Given the description of an element on the screen output the (x, y) to click on. 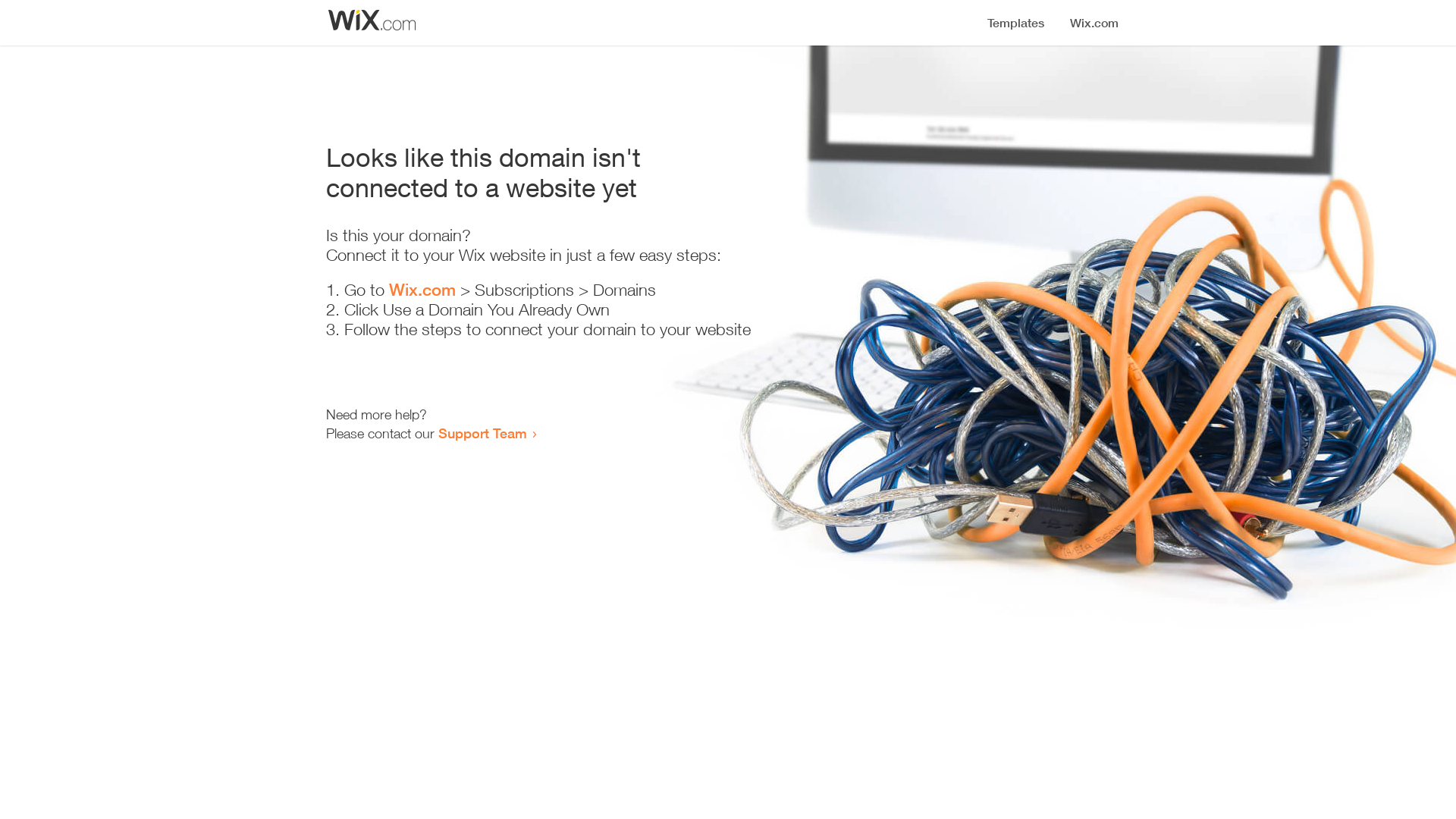
Support Team Element type: text (482, 432)
Wix.com Element type: text (422, 289)
